Given the description of an element on the screen output the (x, y) to click on. 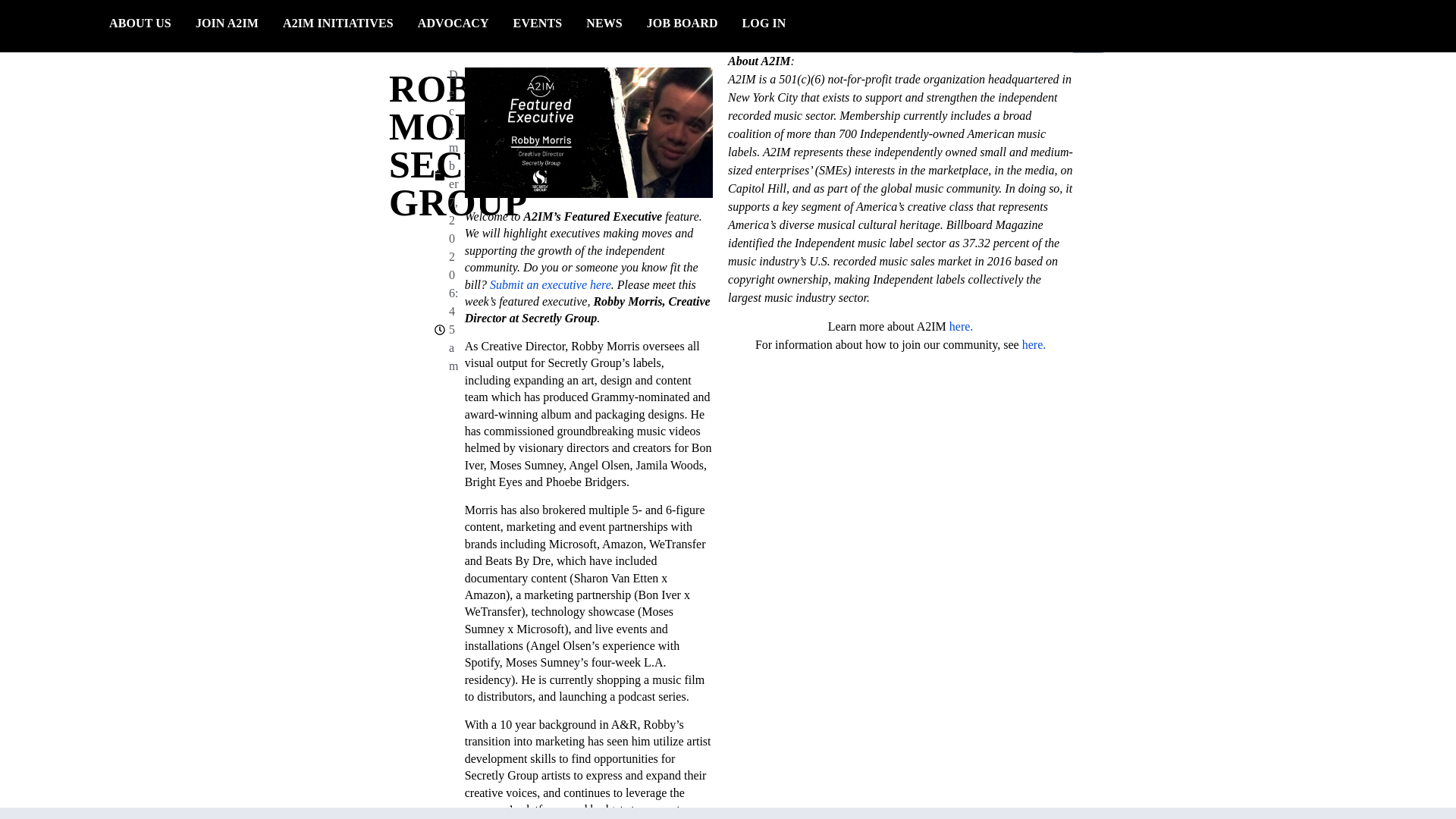
ADVOCACY (453, 23)
NEWS (603, 23)
EVENTS (537, 23)
LOG IN (763, 23)
here. (1034, 344)
JOB BOARD (682, 23)
JOIN A2IM (226, 23)
here. (961, 326)
A2IM INITIATIVES (338, 23)
ABOUT US (140, 23)
